Given the description of an element on the screen output the (x, y) to click on. 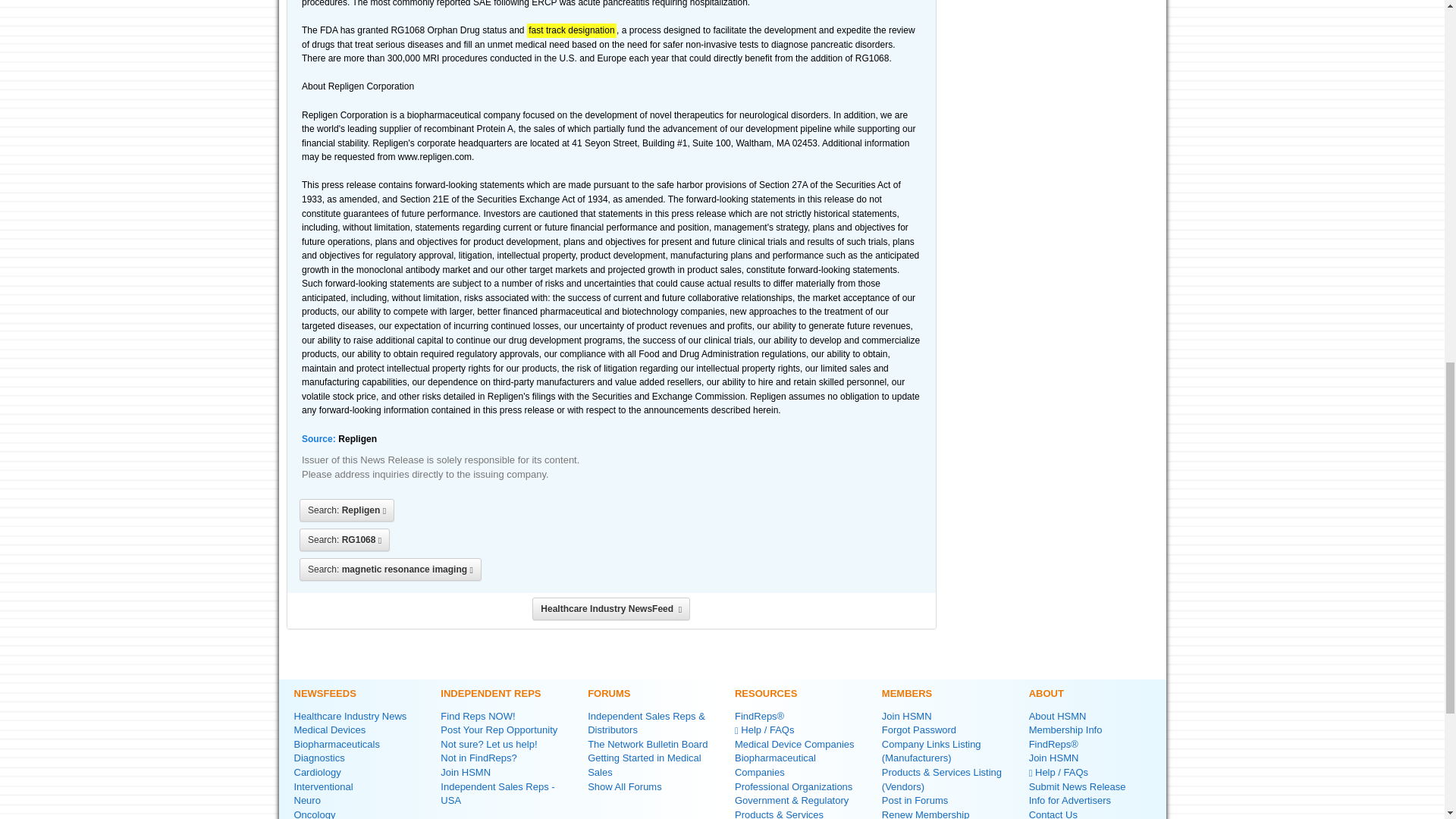
Advertisement (1054, 85)
